Given the description of an element on the screen output the (x, y) to click on. 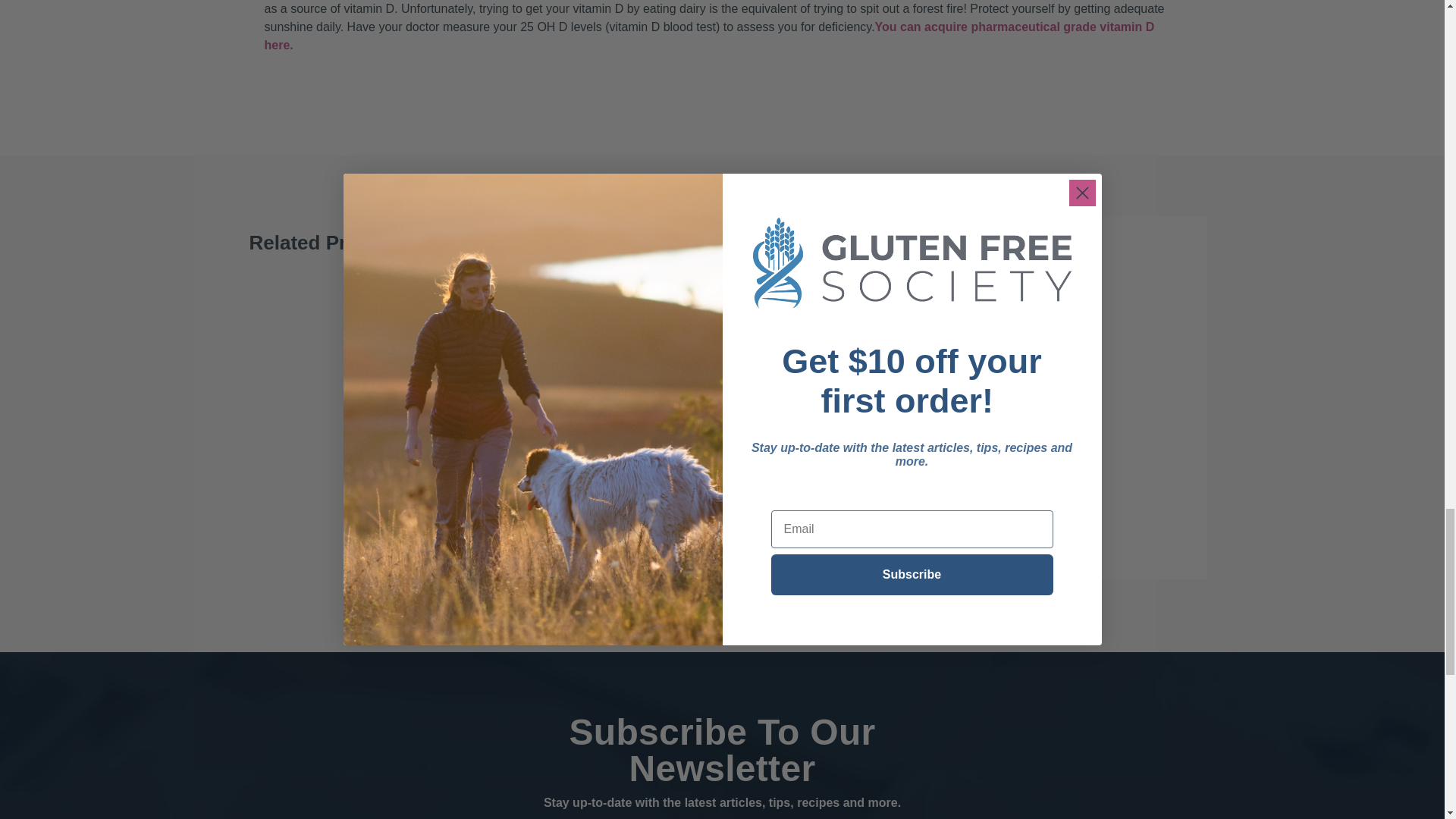
liquid vitamin D3 (708, 35)
